Given the description of an element on the screen output the (x, y) to click on. 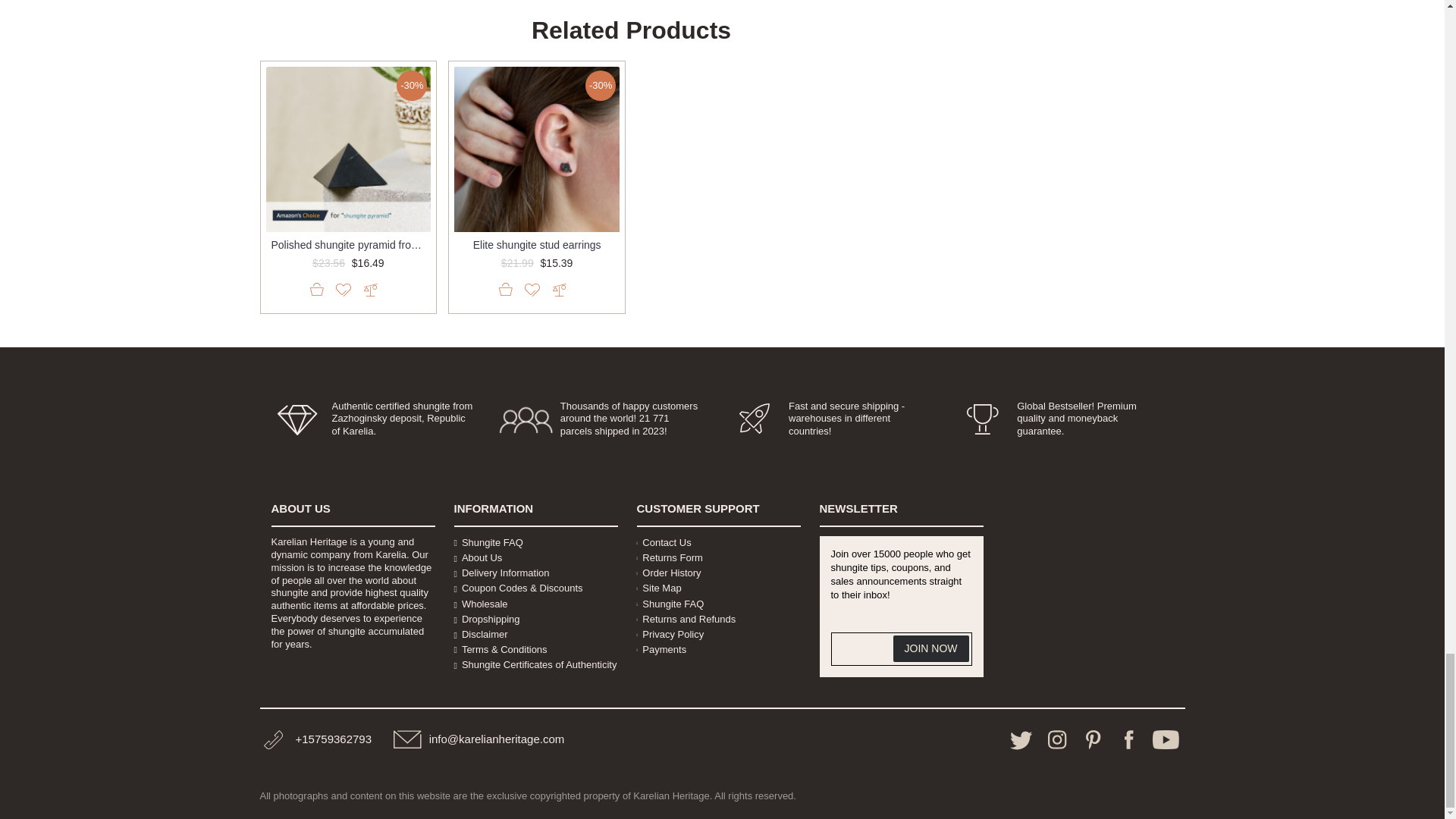
Twitter (1021, 740)
Instagram (1057, 739)
Elite shungite stud earrings (537, 148)
Polished shungite pyramid from Karelia for Sale (347, 148)
